Given the description of an element on the screen output the (x, y) to click on. 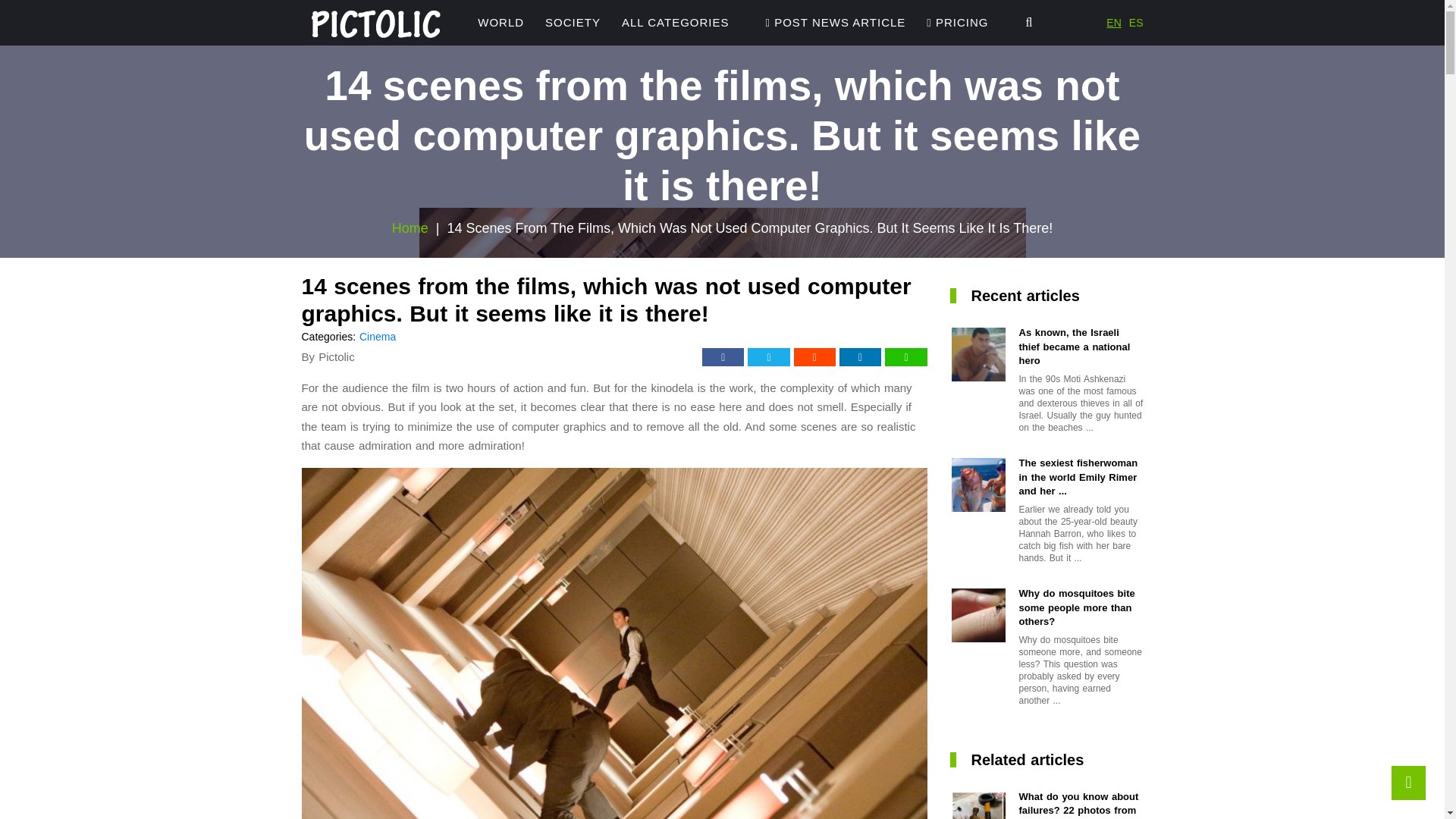
WORLD (500, 22)
Cinema (377, 336)
SOCIETY (572, 22)
Cinema (377, 336)
Facebook (722, 357)
All Categories (675, 22)
As known, the Israeli thief became a national hero (1080, 346)
LinkedIn (860, 357)
Reddit (814, 357)
Twitter (768, 357)
